Given the description of an element on the screen output the (x, y) to click on. 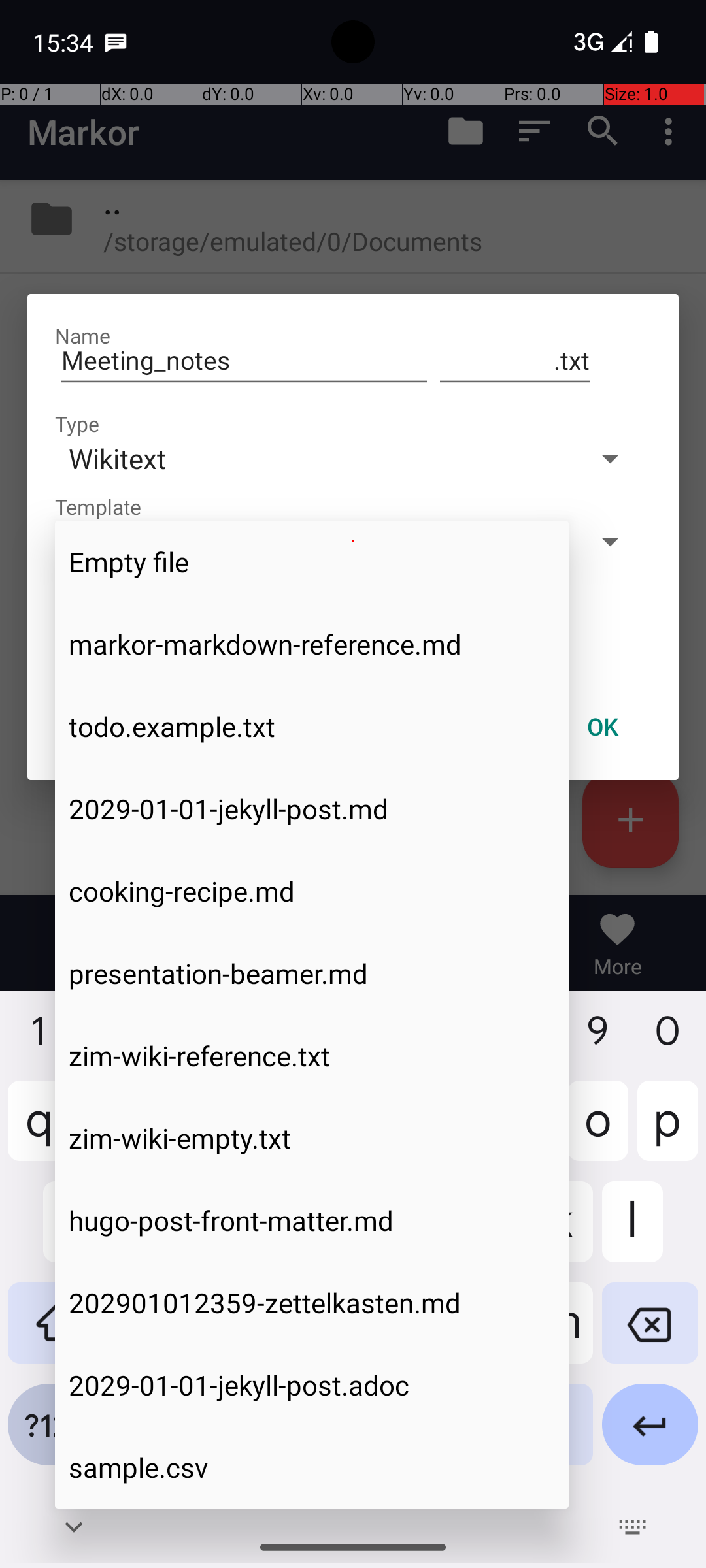
Empty file Element type: android.widget.CheckedTextView (311, 561)
markor-markdown-reference.md Element type: android.widget.CheckedTextView (311, 644)
todo.example.txt Element type: android.widget.CheckedTextView (311, 726)
2029-01-01-jekyll-post.md Element type: android.widget.CheckedTextView (311, 808)
cooking-recipe.md Element type: android.widget.CheckedTextView (311, 890)
presentation-beamer.md Element type: android.widget.CheckedTextView (311, 973)
zim-wiki-reference.txt Element type: android.widget.CheckedTextView (311, 1055)
zim-wiki-empty.txt Element type: android.widget.CheckedTextView (311, 1137)
hugo-post-front-matter.md Element type: android.widget.CheckedTextView (311, 1220)
202901012359-zettelkasten.md Element type: android.widget.CheckedTextView (311, 1302)
2029-01-01-jekyll-post.adoc Element type: android.widget.CheckedTextView (311, 1384)
sample.csv Element type: android.widget.CheckedTextView (311, 1467)
